Given the description of an element on the screen output the (x, y) to click on. 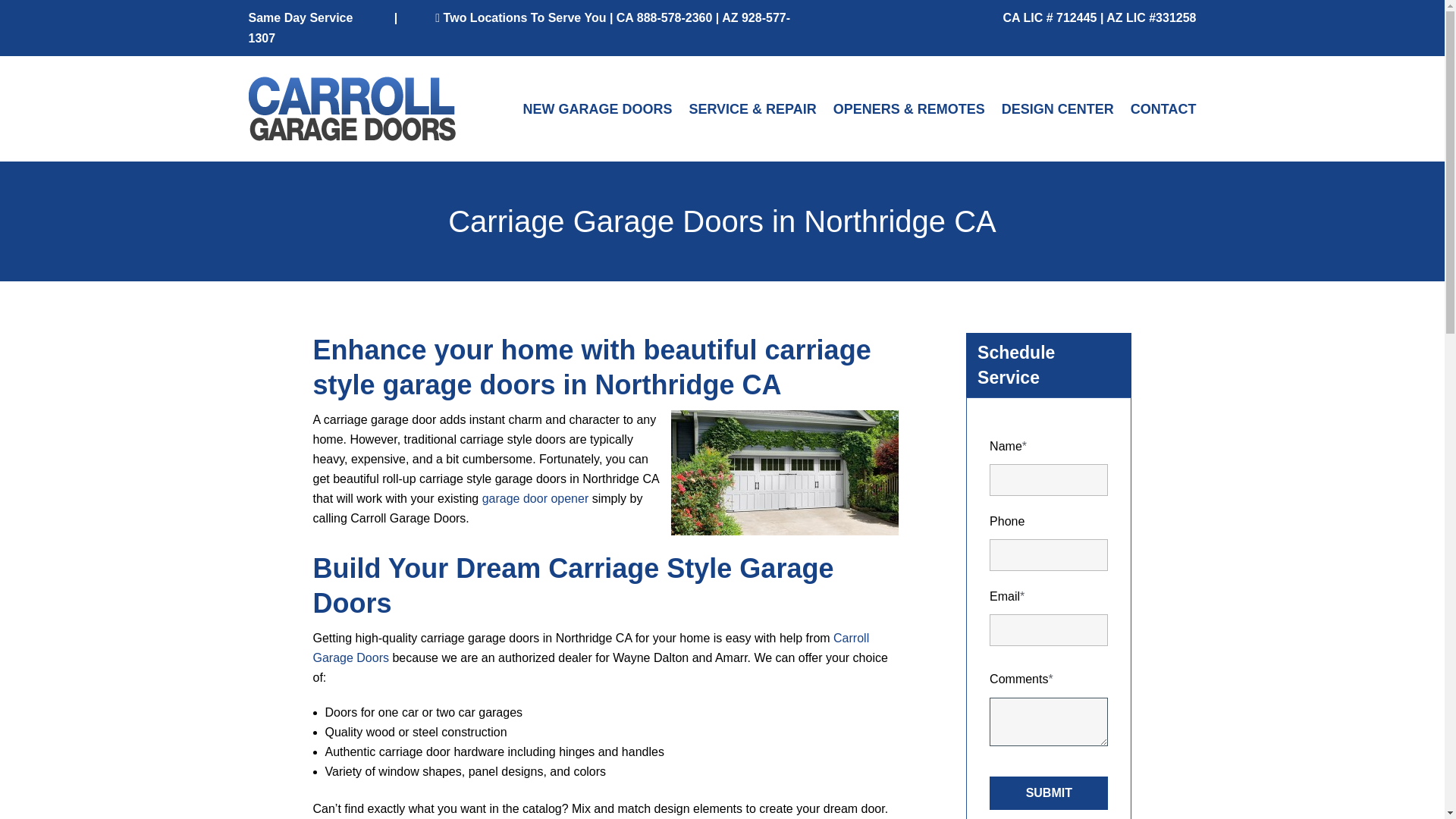
DESIGN CENTER (1057, 109)
SUBMIT (1049, 792)
NEW GARAGE DOORS (596, 109)
Carroll Garage Doors (591, 647)
Carroll Garage Doors (591, 647)
CONTACT (1163, 109)
Carriage Garage Doors (784, 472)
Garage Door Opener (535, 498)
garage door opener (535, 498)
